Given the description of an element on the screen output the (x, y) to click on. 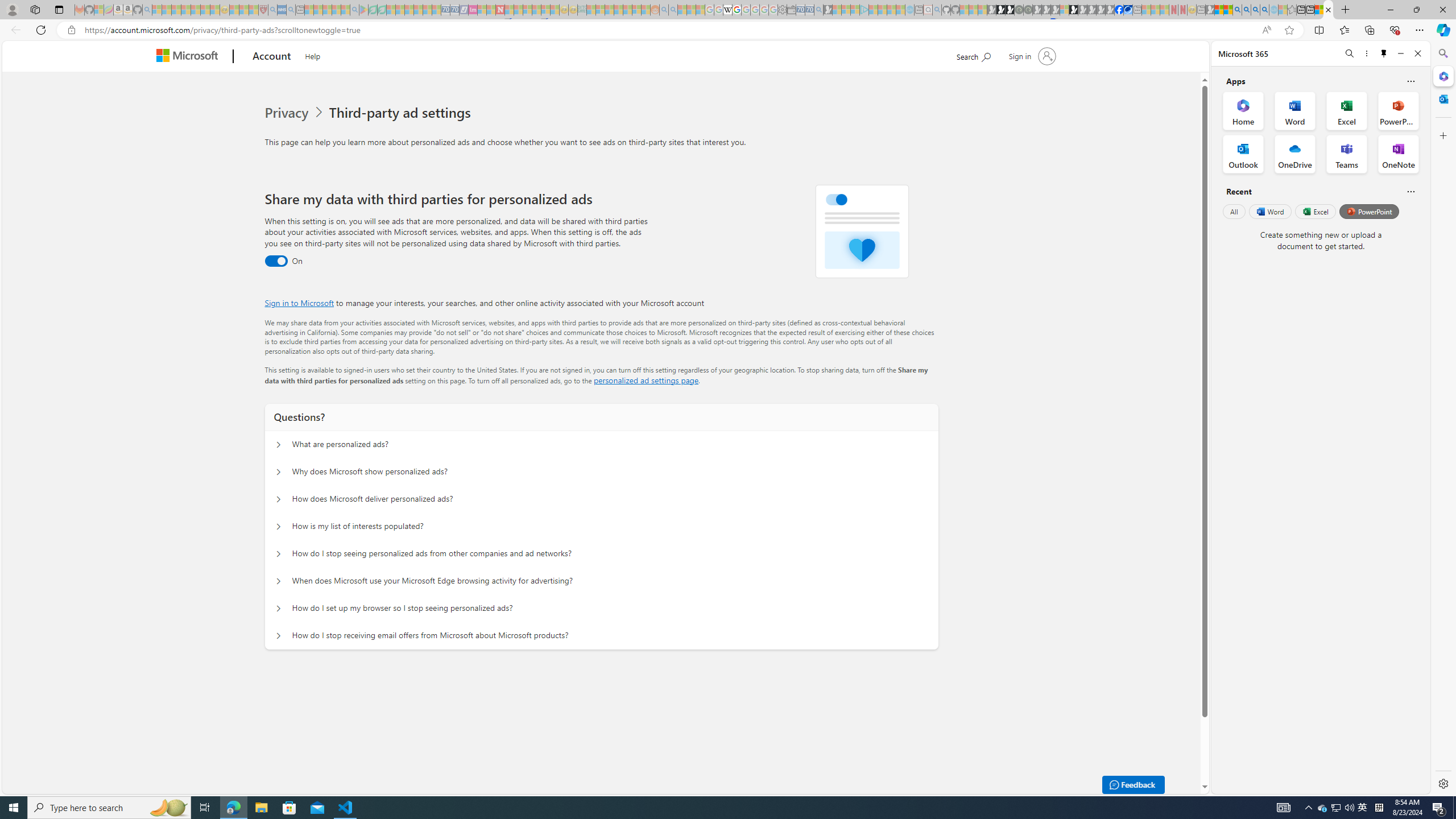
Excel (1315, 210)
Future Focus Report 2024 - Sleeping (1027, 9)
AirNow.gov (1127, 9)
utah sues federal government - Search - Sleeping (290, 9)
